Given the description of an element on the screen output the (x, y) to click on. 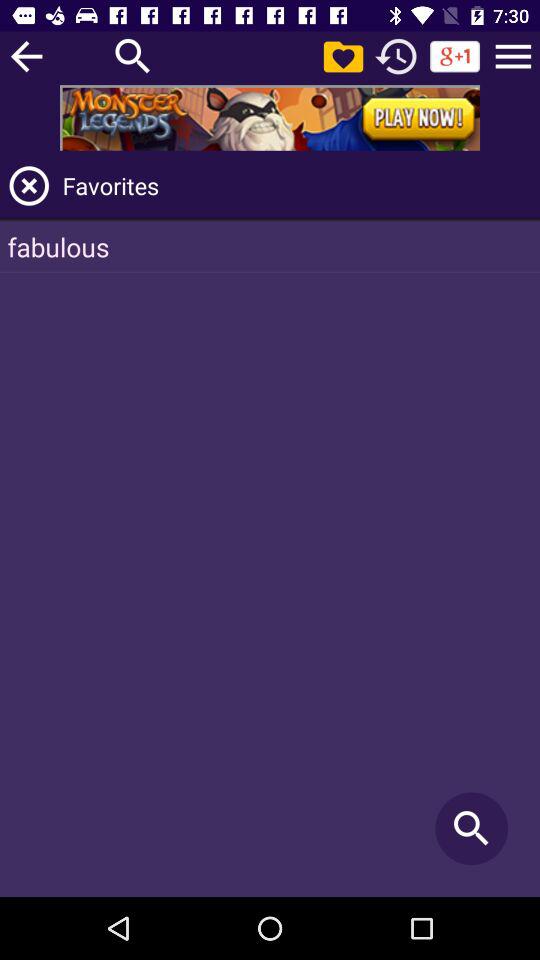
turn off the item at the bottom right corner (471, 828)
